Given the description of an element on the screen output the (x, y) to click on. 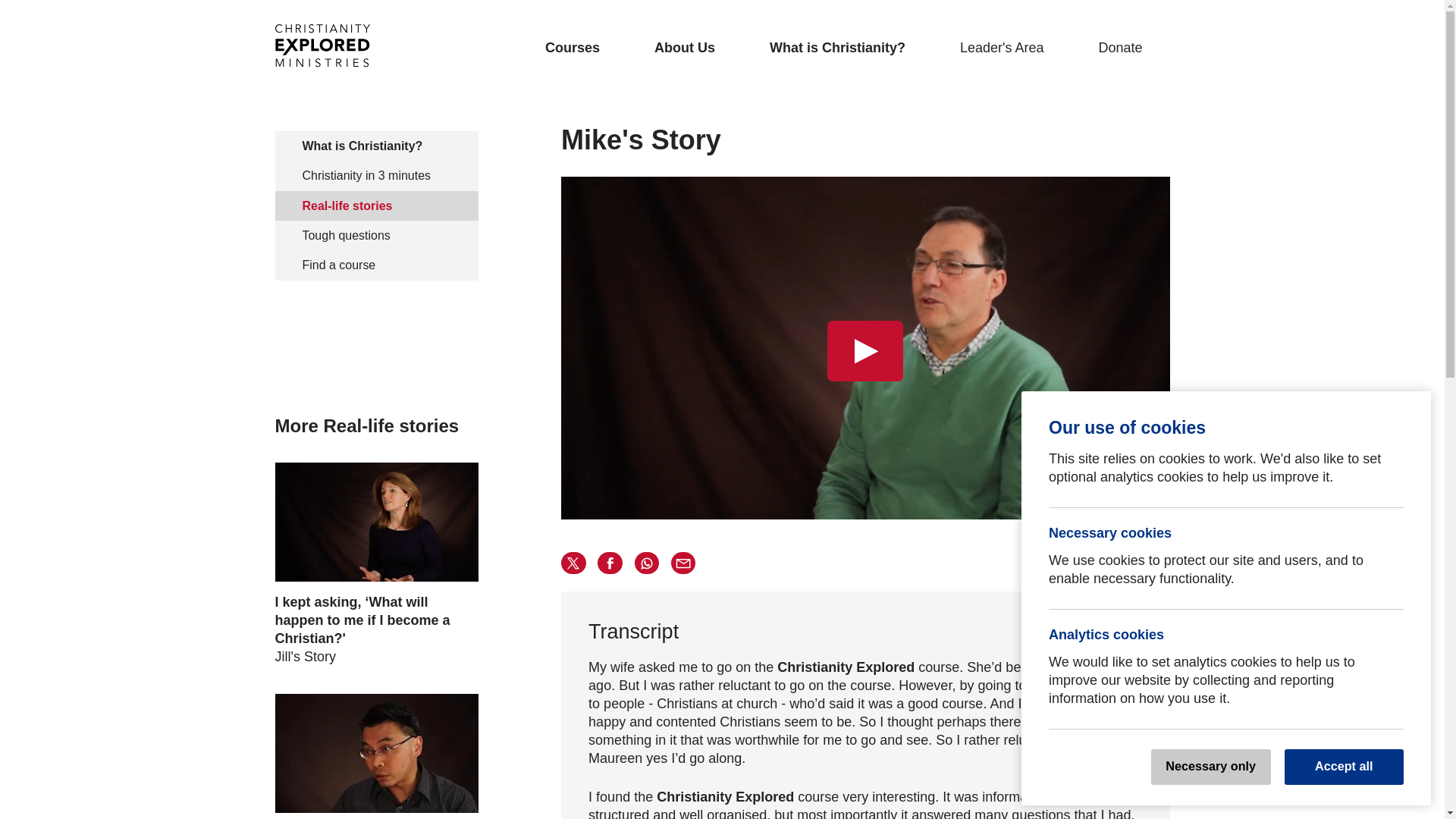
Real-life stories (376, 205)
Tough questions (376, 235)
About Us (683, 47)
What is Christianity? (376, 145)
Leader's Area (1001, 47)
Donate (1119, 47)
Find a course (376, 265)
Christianity in 3 minutes (376, 175)
What is Christianity? (837, 47)
Courses (571, 47)
